Given the description of an element on the screen output the (x, y) to click on. 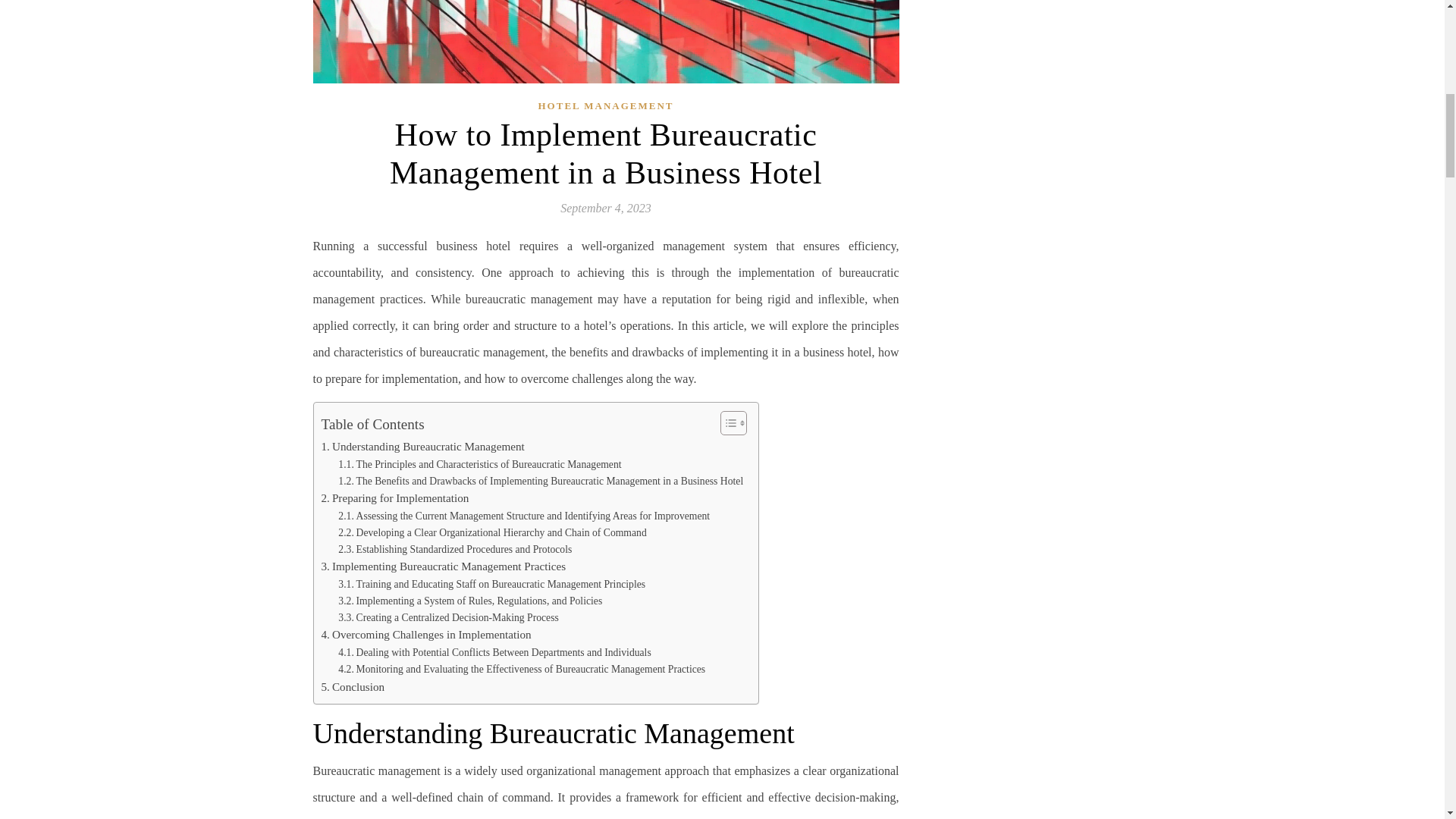
Preparing for Implementation (394, 497)
Overcoming Challenges in Implementation (426, 634)
Overcoming Challenges in Implementation (426, 634)
Conclusion (353, 687)
